Given the description of an element on the screen output the (x, y) to click on. 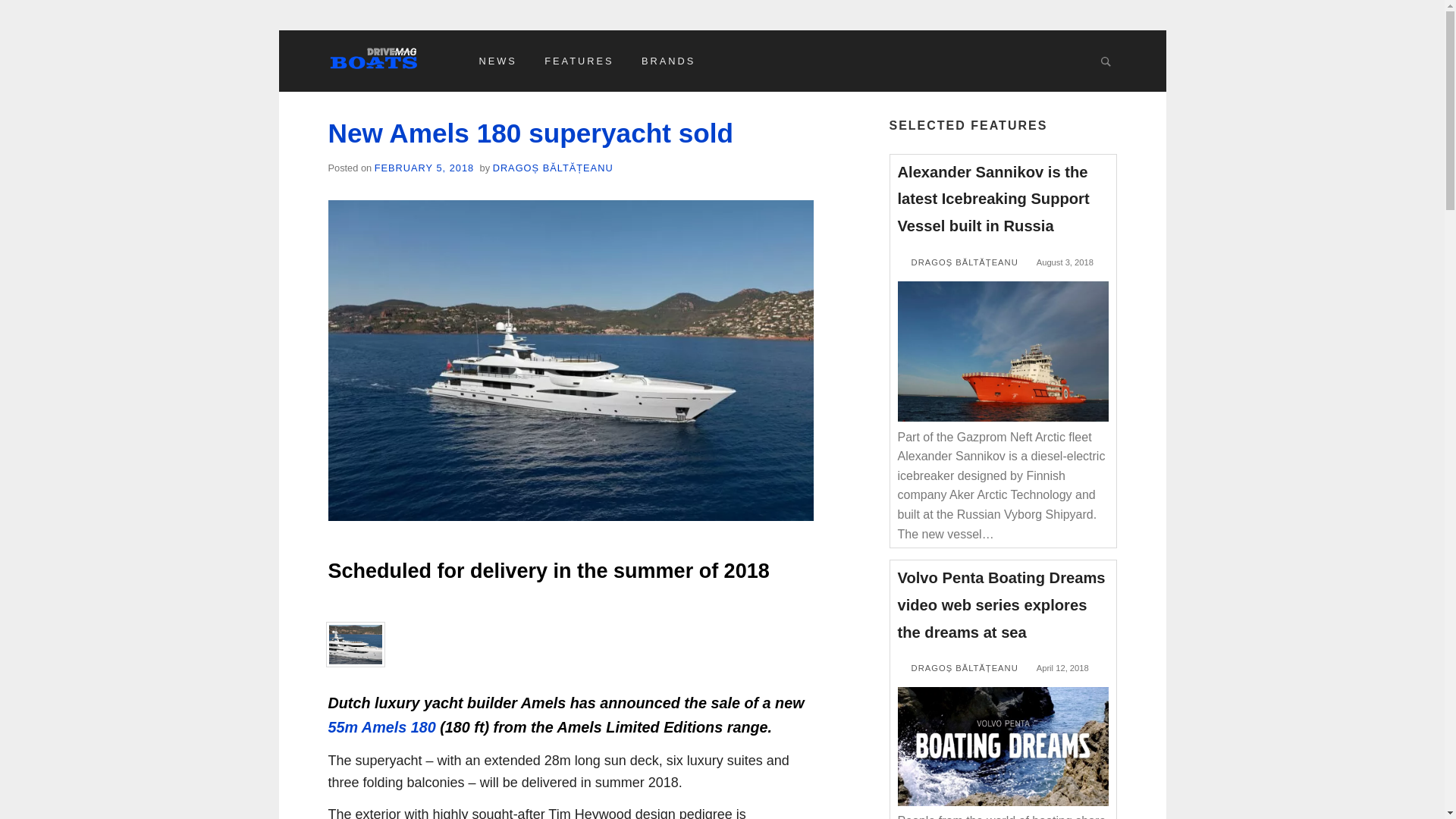
BRANDS (668, 60)
55m Amels 180 (381, 727)
FEATURES (579, 60)
NEWS (497, 60)
FEBRUARY 5, 2018 (424, 167)
